Given the description of an element on the screen output the (x, y) to click on. 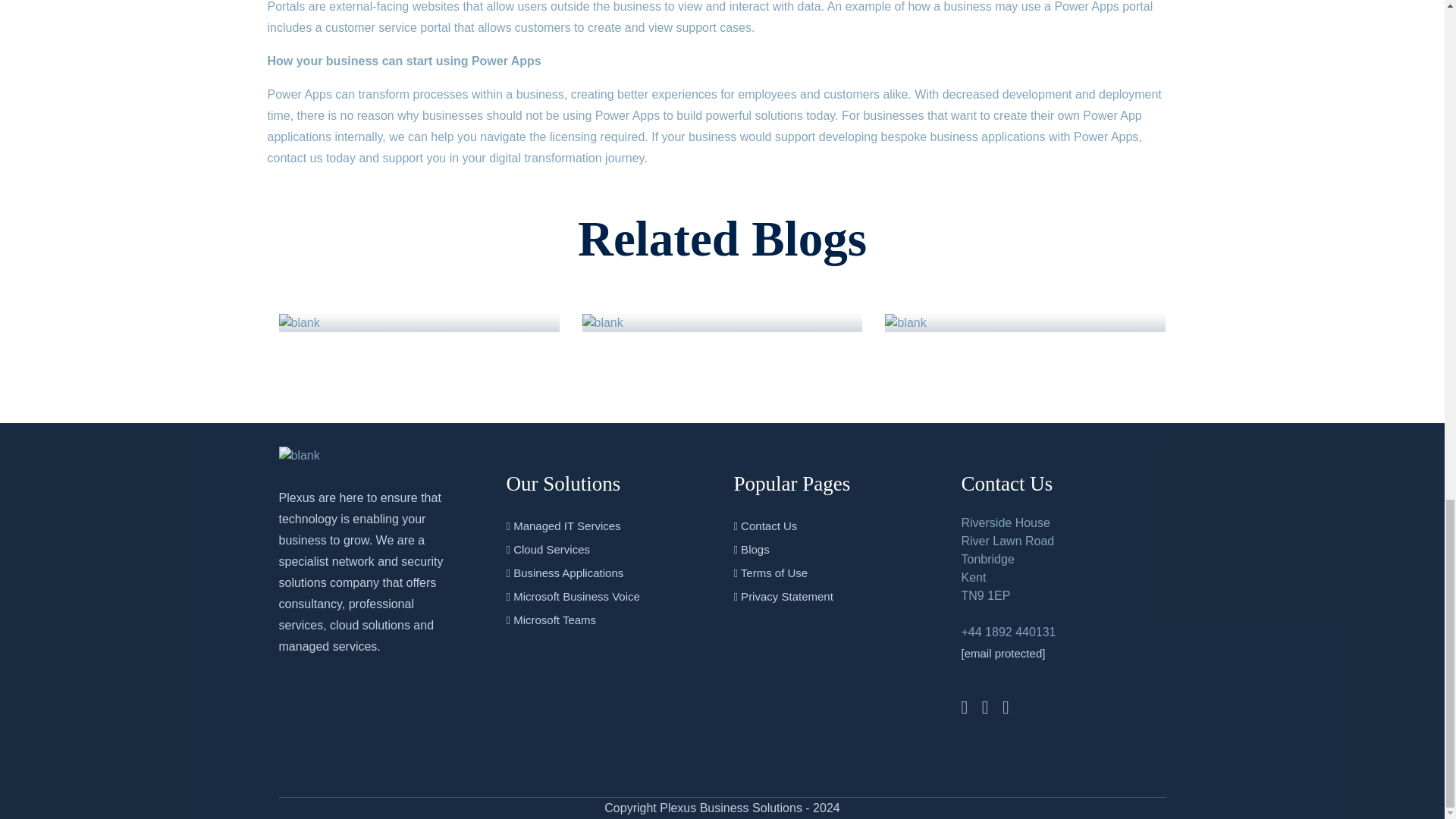
Microsoft Business Voice (572, 596)
Blogs (750, 549)
Business Applications (564, 572)
Terms of Use (770, 572)
Managed IT Services (562, 525)
Contact Us (764, 525)
Privacy Statement (782, 596)
Microsoft Teams (550, 619)
Cloud Services (547, 549)
